Given the description of an element on the screen output the (x, y) to click on. 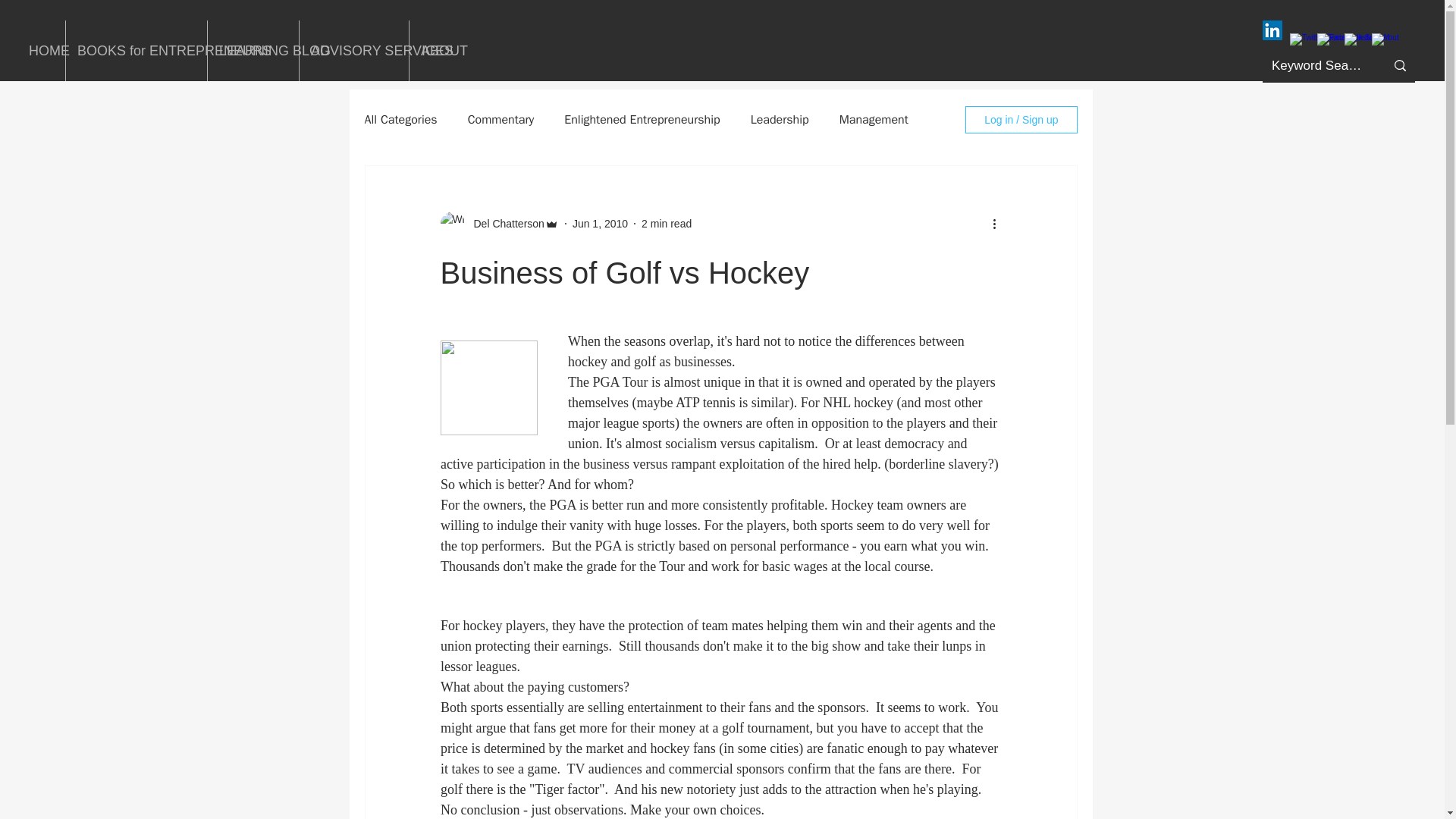
All Categories (400, 119)
Enlightened Entrepreneurship (641, 119)
Del Chatterson (503, 222)
Leadership (780, 119)
Commentary (500, 119)
LEARNING BLOG (253, 50)
ADVISORY SERVICES (354, 50)
2 min read (666, 223)
Jun 1, 2010 (599, 223)
BOOKS for ENTREPRENEURS (135, 50)
